Given the description of an element on the screen output the (x, y) to click on. 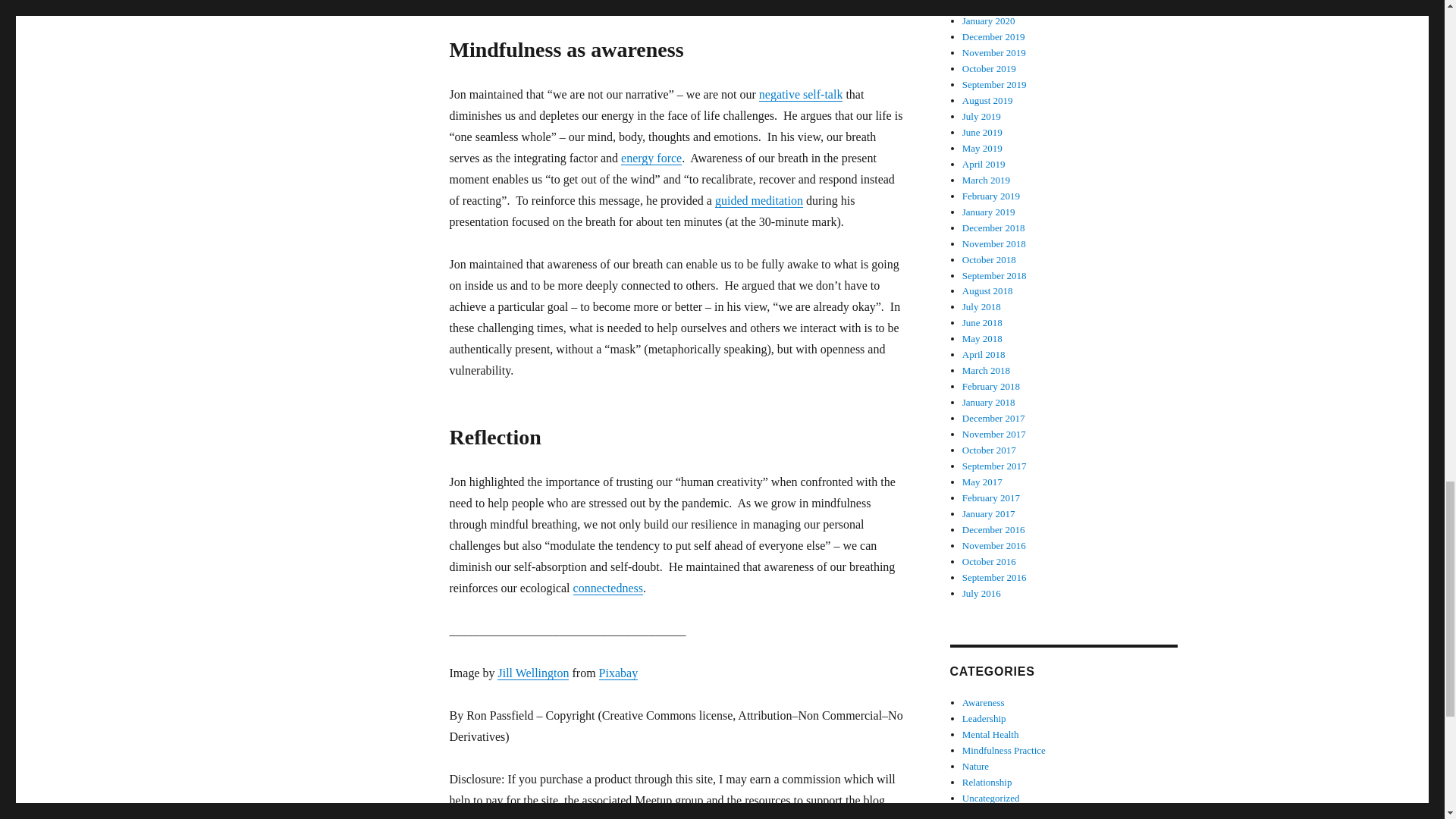
Pixabay (618, 672)
guided meditation (758, 200)
Jill Wellington (533, 672)
negative self-talk (800, 93)
energy force (651, 157)
connectedness (608, 587)
